Given the description of an element on the screen output the (x, y) to click on. 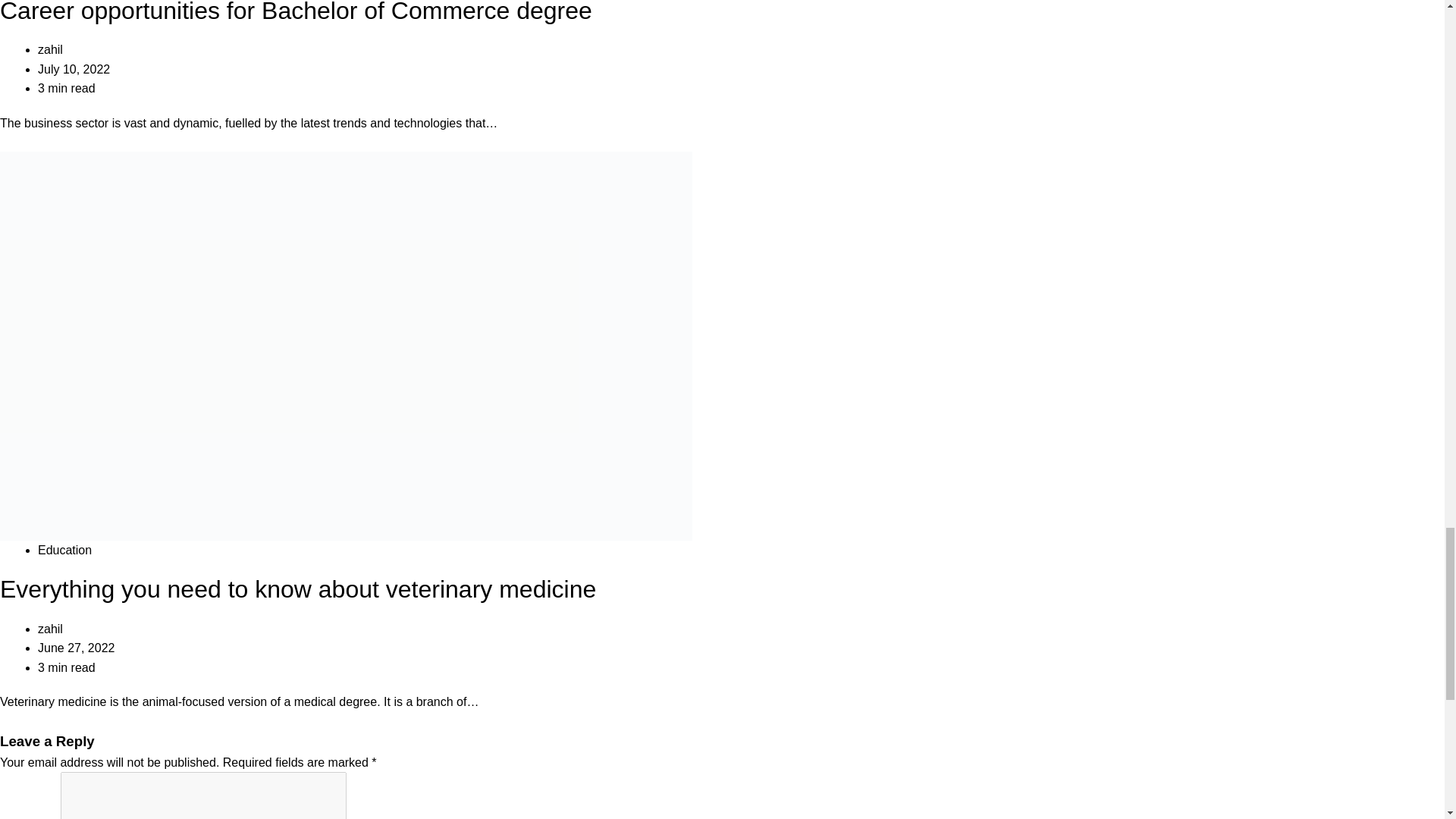
zahil (49, 49)
Everything you need to know about veterinary medicine (297, 588)
Career opportunities for Bachelor of Commerce degree (296, 12)
Education (64, 549)
